Given the description of an element on the screen output the (x, y) to click on. 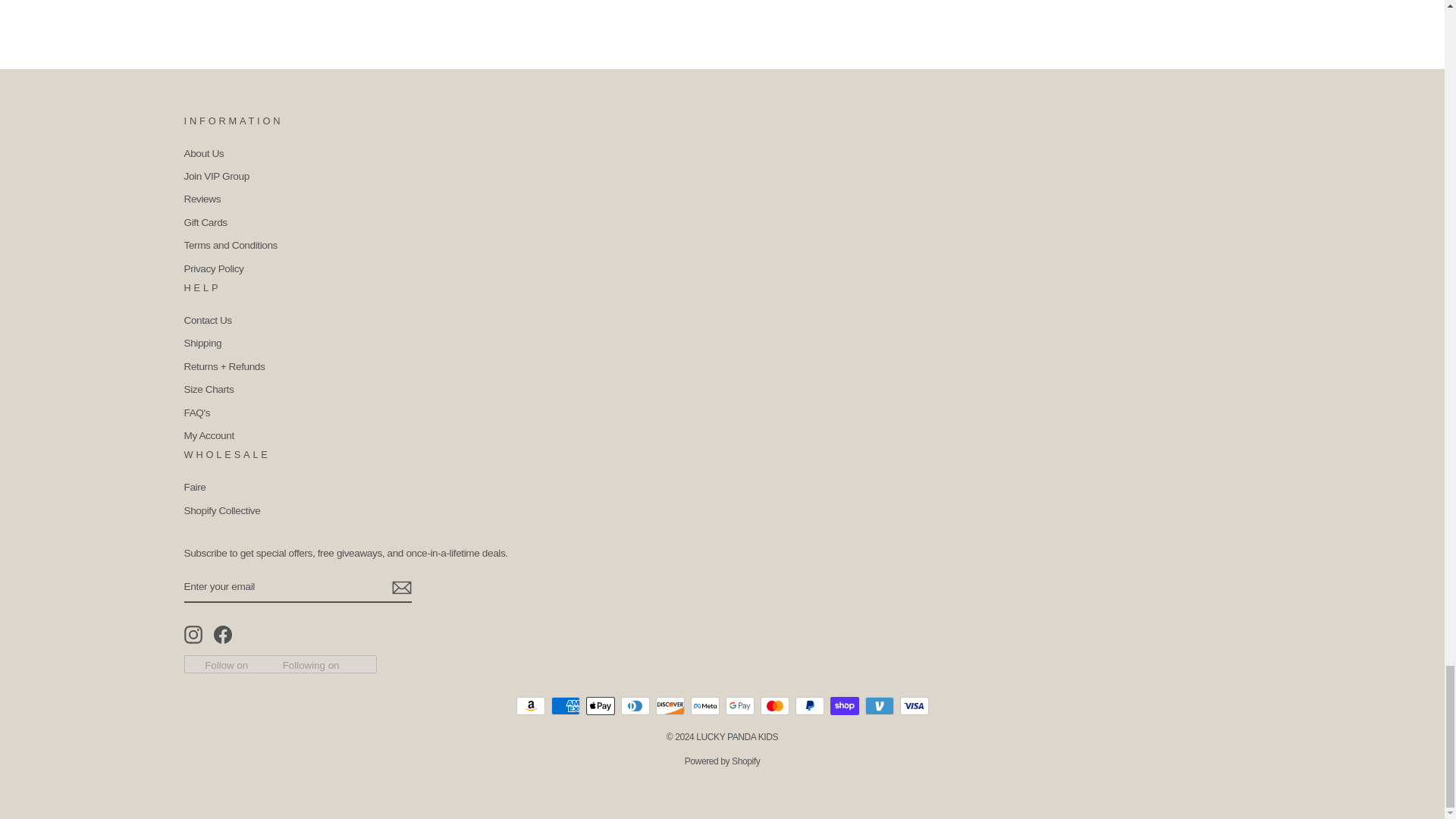
icon-email (400, 587)
instagram (192, 634)
LUCKY PANDA KIDS on Facebook (222, 634)
LUCKY PANDA KIDS on Instagram (192, 634)
